Given the description of an element on the screen output the (x, y) to click on. 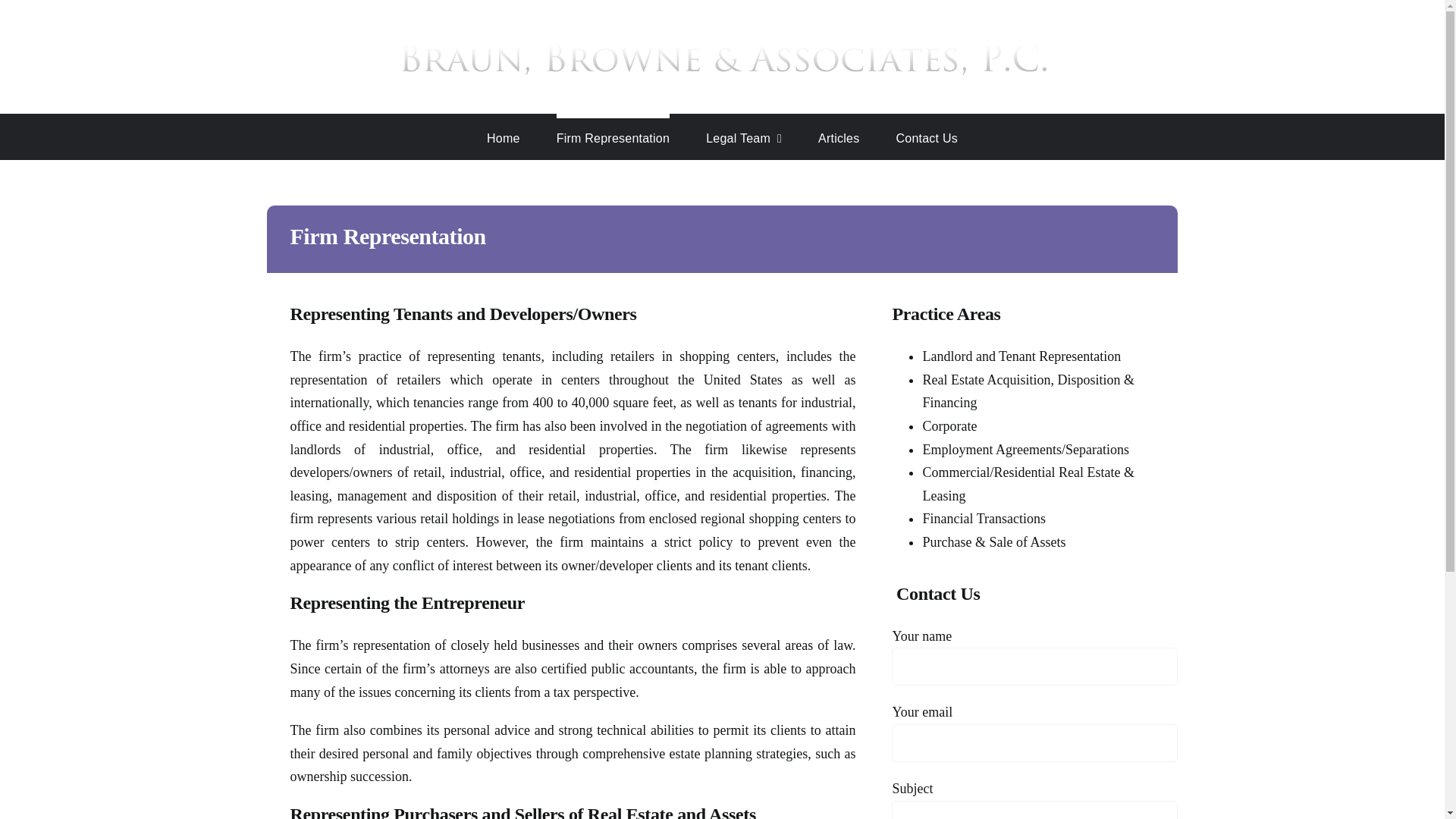
Contact Us (926, 135)
Firm Representation (612, 135)
Articles (838, 135)
Legal Team (743, 135)
